Given the description of an element on the screen output the (x, y) to click on. 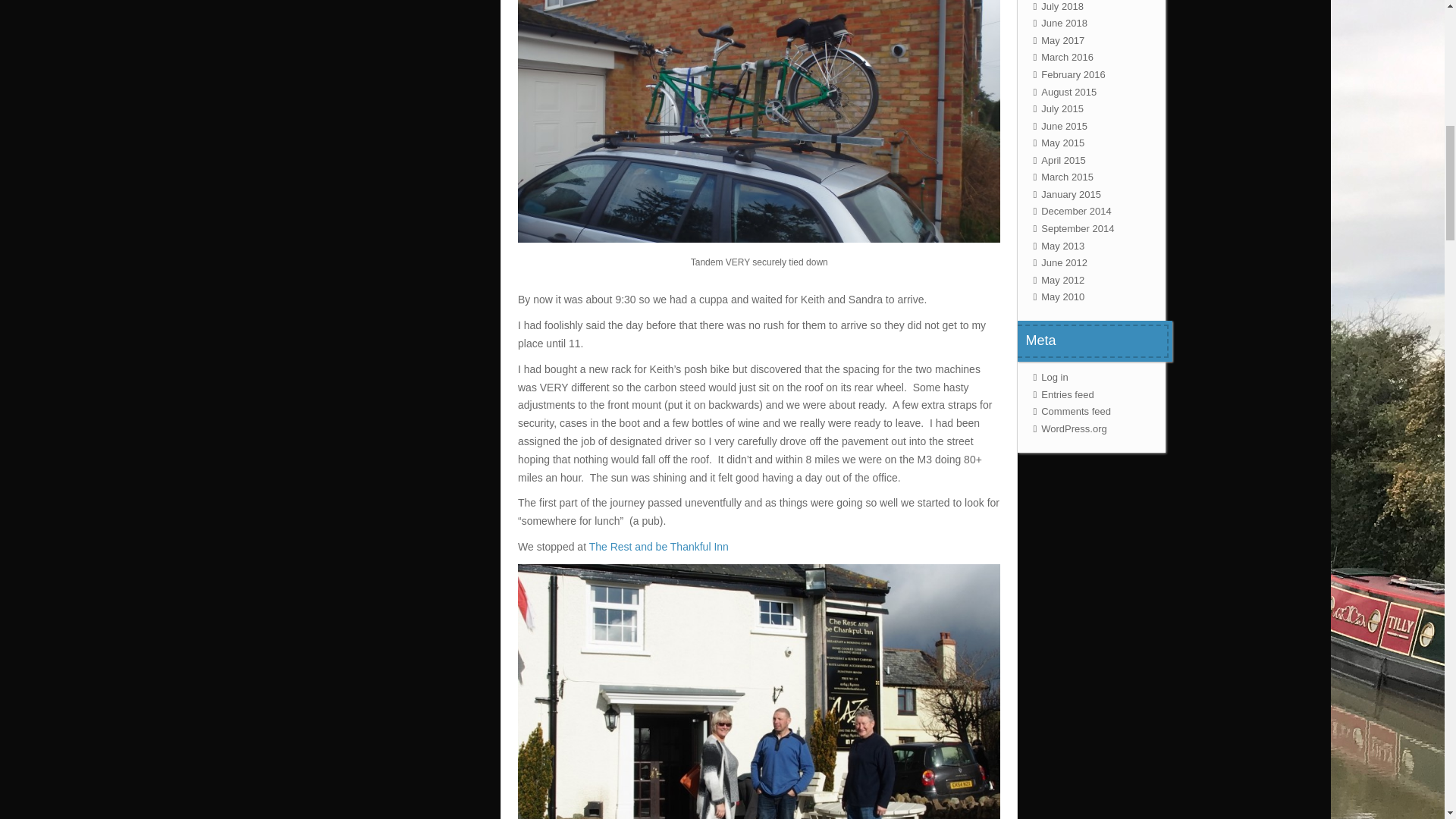
The Rest and be Thankful Inn (659, 546)
